Given the description of an element on the screen output the (x, y) to click on. 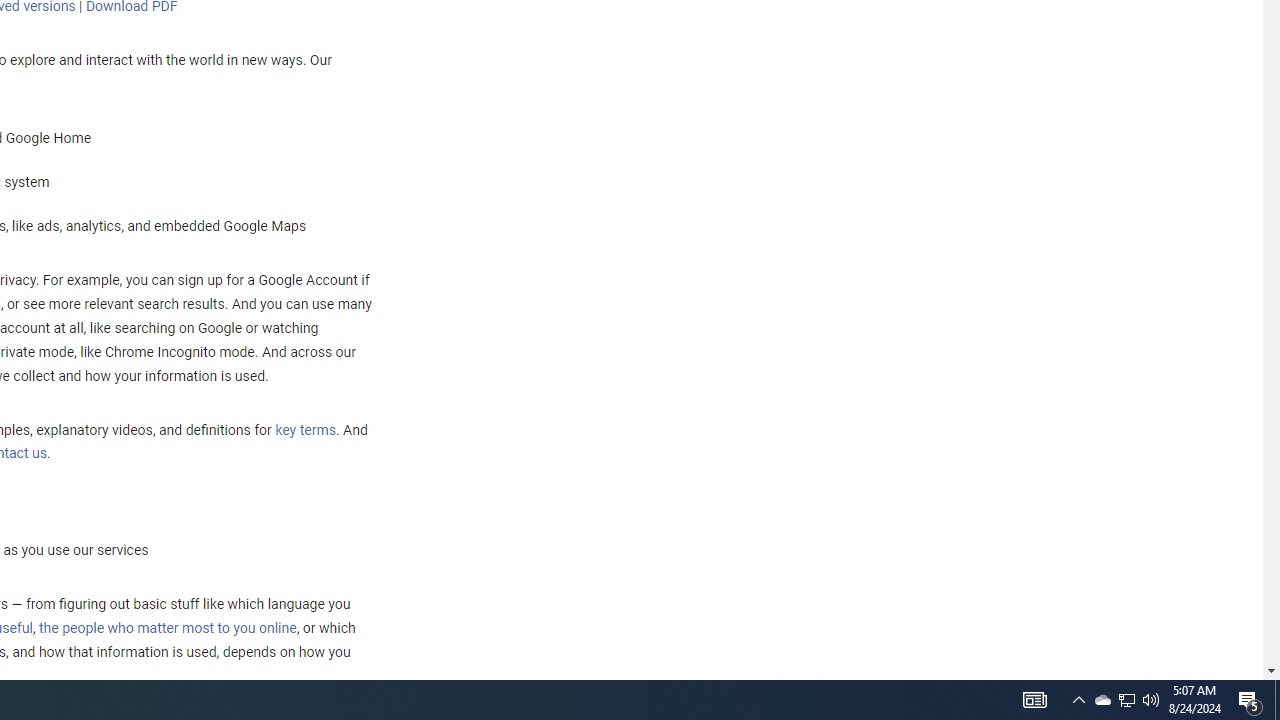
the people who matter most to you online (167, 628)
key terms (305, 430)
